Given the description of an element on the screen output the (x, y) to click on. 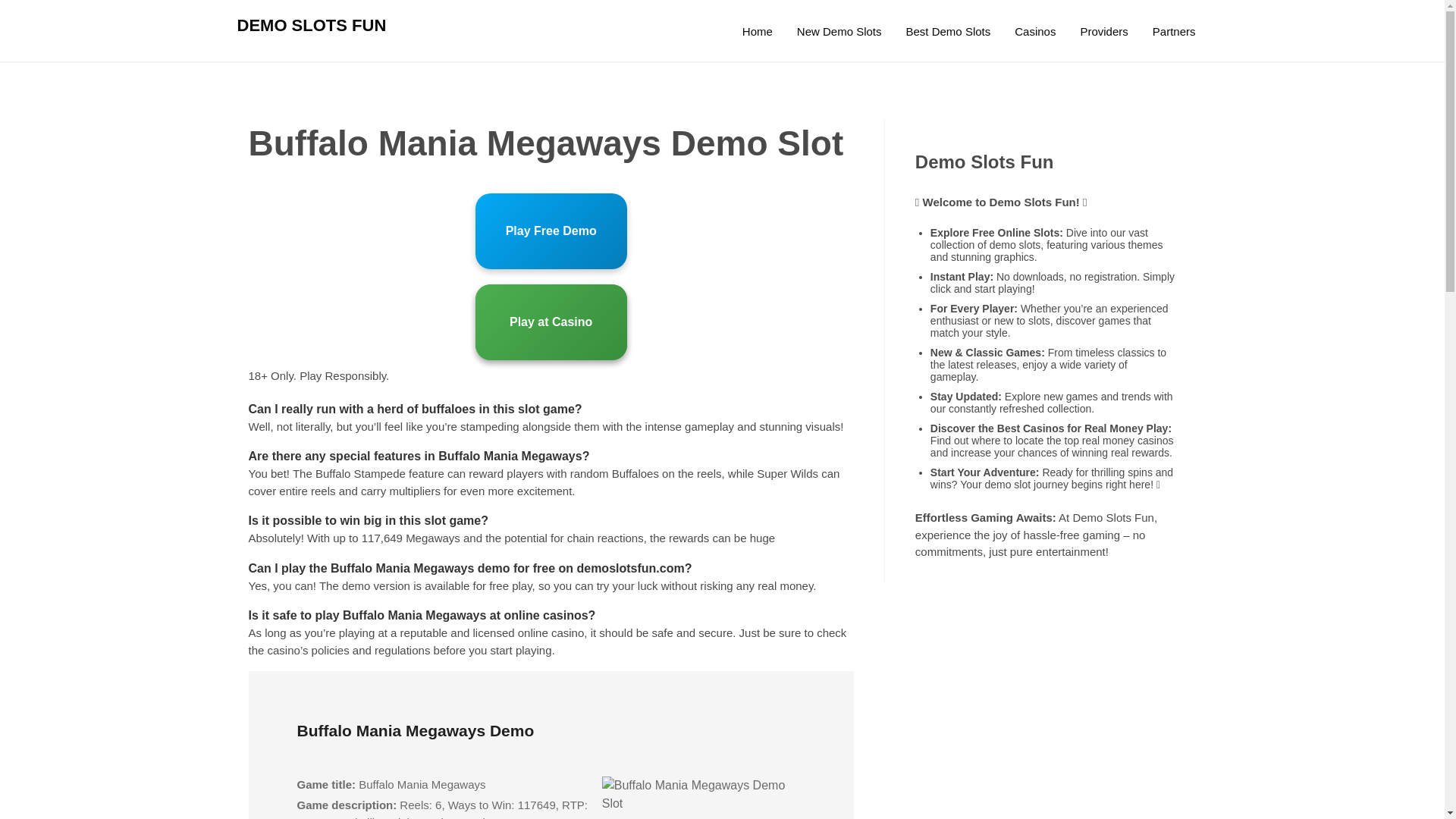
Demo Slots Fun (757, 31)
Partners (1174, 31)
Home (757, 31)
Slots Providers (1103, 31)
Play Free Demo (551, 231)
Best Demo Slots (948, 31)
Casinos (1035, 31)
Partners (1174, 31)
Play at Casino (551, 322)
New Demo Slots (838, 31)
